Given the description of an element on the screen output the (x, y) to click on. 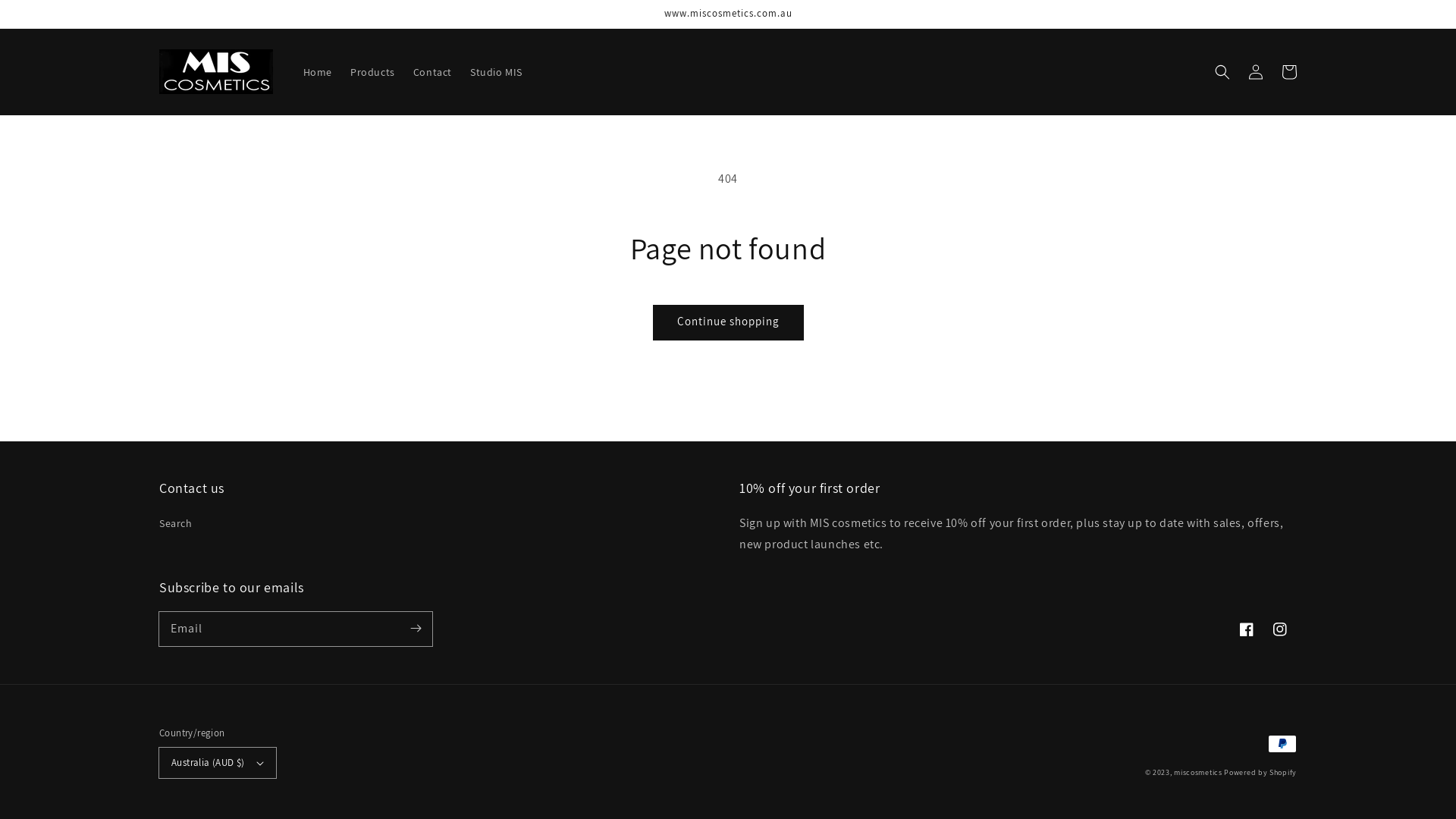
Cart Element type: text (1288, 71)
Continue shopping Element type: text (728, 322)
Contact Element type: text (432, 71)
miscosmetics Element type: text (1197, 772)
Instagram Element type: text (1279, 629)
Facebook Element type: text (1246, 629)
Log in Element type: text (1255, 71)
Studio MIS Element type: text (496, 71)
Australia (AUD $) Element type: text (217, 762)
Powered by Shopify Element type: text (1259, 772)
Search Element type: text (175, 525)
Home Element type: text (317, 71)
Products Element type: text (372, 71)
